Given the description of an element on the screen output the (x, y) to click on. 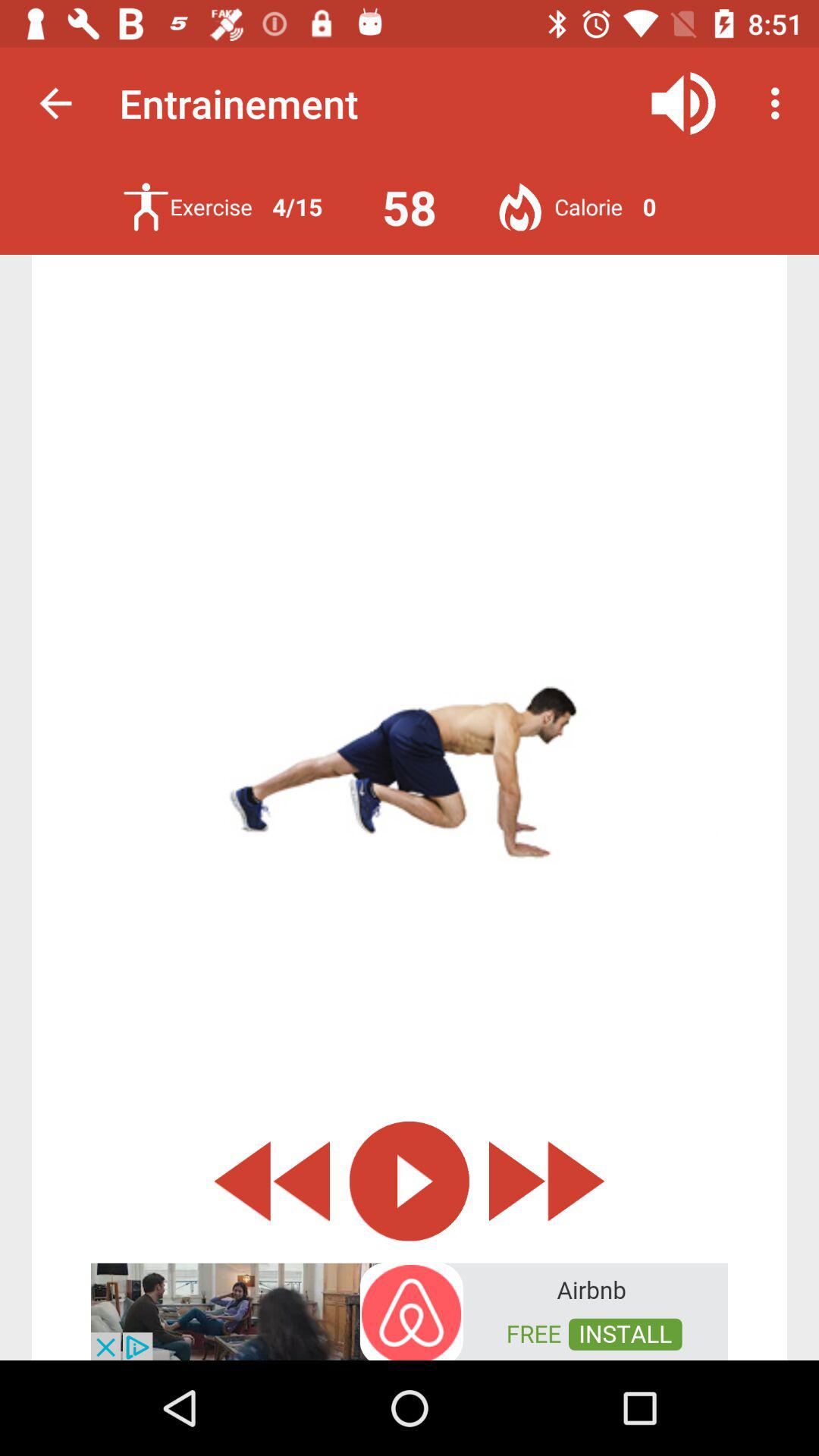
audio button (683, 103)
